Given the description of an element on the screen output the (x, y) to click on. 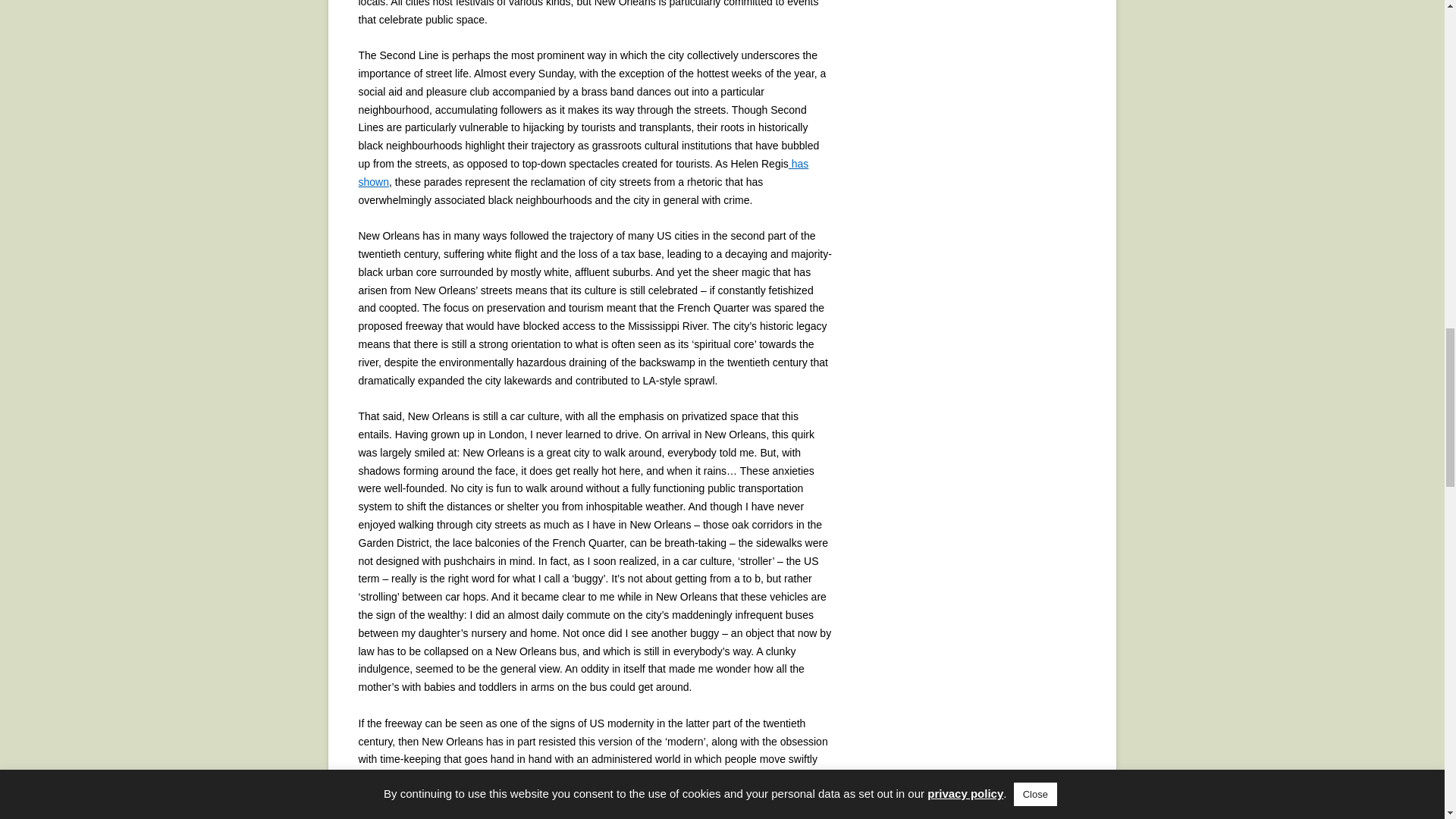
has shown (583, 173)
